Given the description of an element on the screen output the (x, y) to click on. 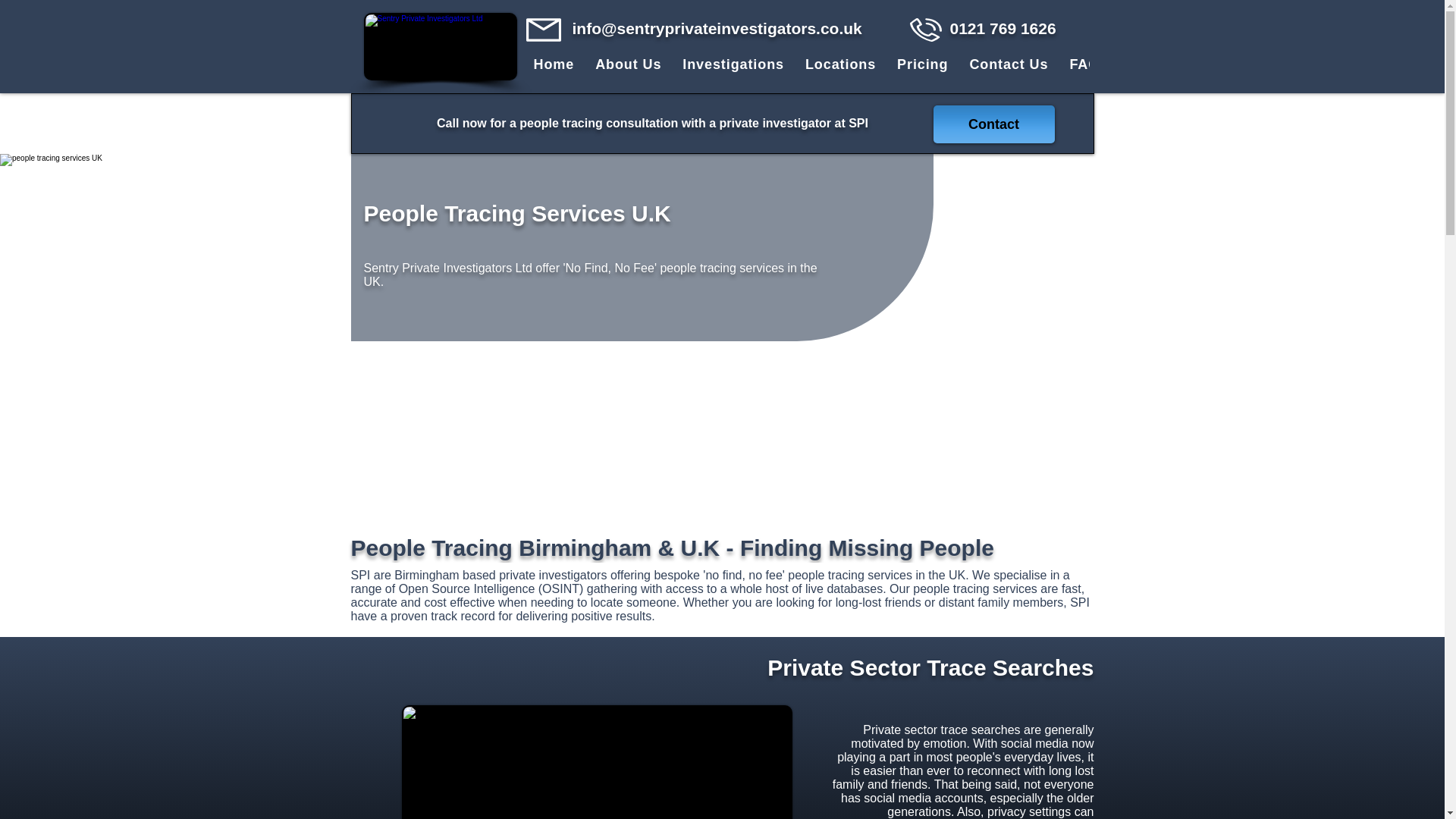
Investigations (733, 64)
About Us (628, 64)
0121 769 1626 (1002, 27)
Home (553, 64)
trace searches (596, 762)
